Given the description of an element on the screen output the (x, y) to click on. 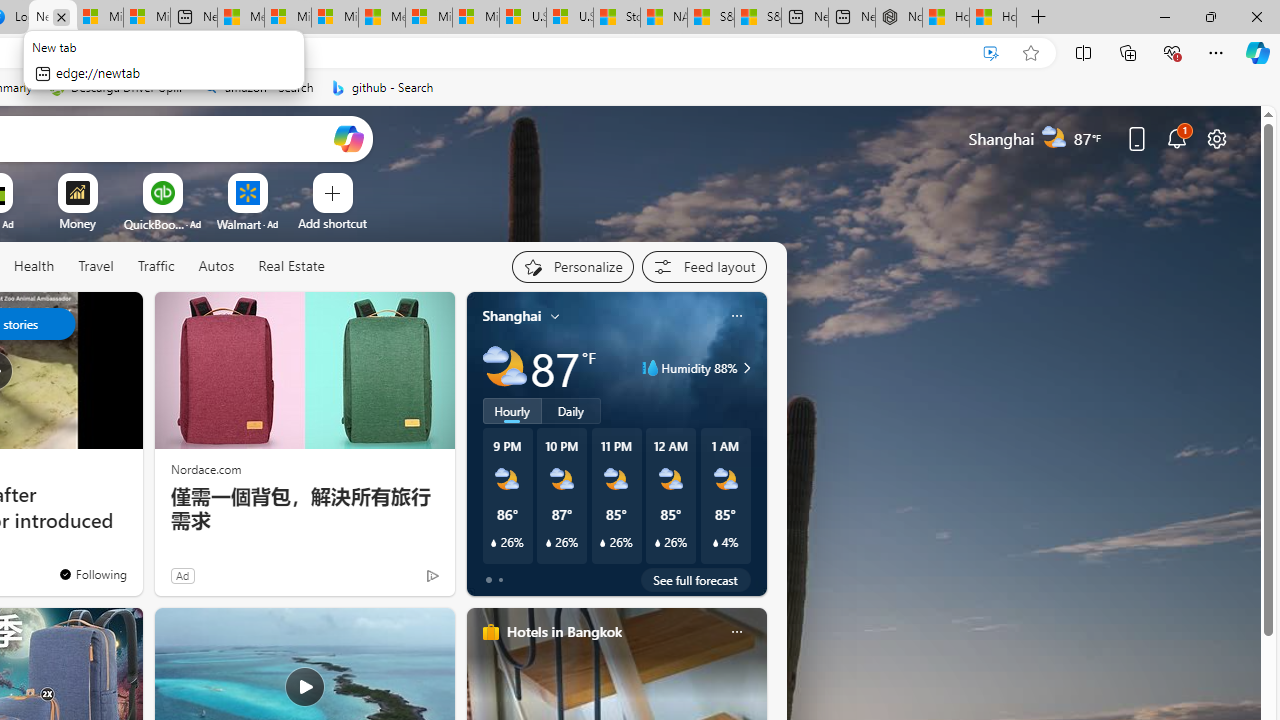
Hourly (511, 411)
Autos (215, 265)
See more (118, 315)
Partly cloudy (504, 368)
Partly cloudy (504, 368)
You're following FOX News (92, 573)
Feed settings (703, 266)
